Given the description of an element on the screen output the (x, y) to click on. 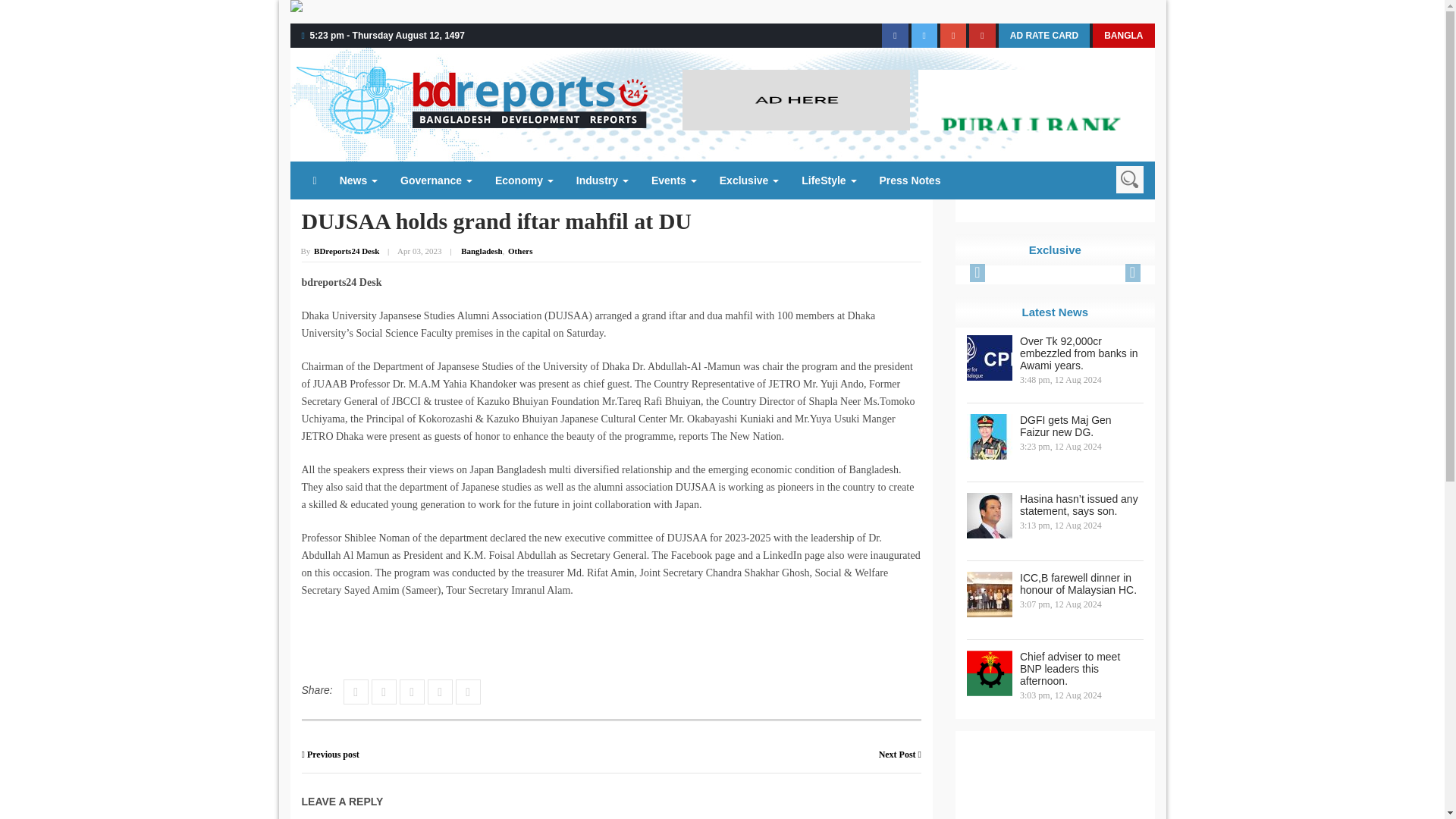
Economy (523, 180)
Governance (435, 180)
News (358, 180)
search (1129, 179)
Events (673, 180)
Governance (435, 180)
BANGLA (1123, 35)
AD RATE CARD (1043, 35)
News (358, 180)
Exclusive (748, 180)
